Given the description of an element on the screen output the (x, y) to click on. 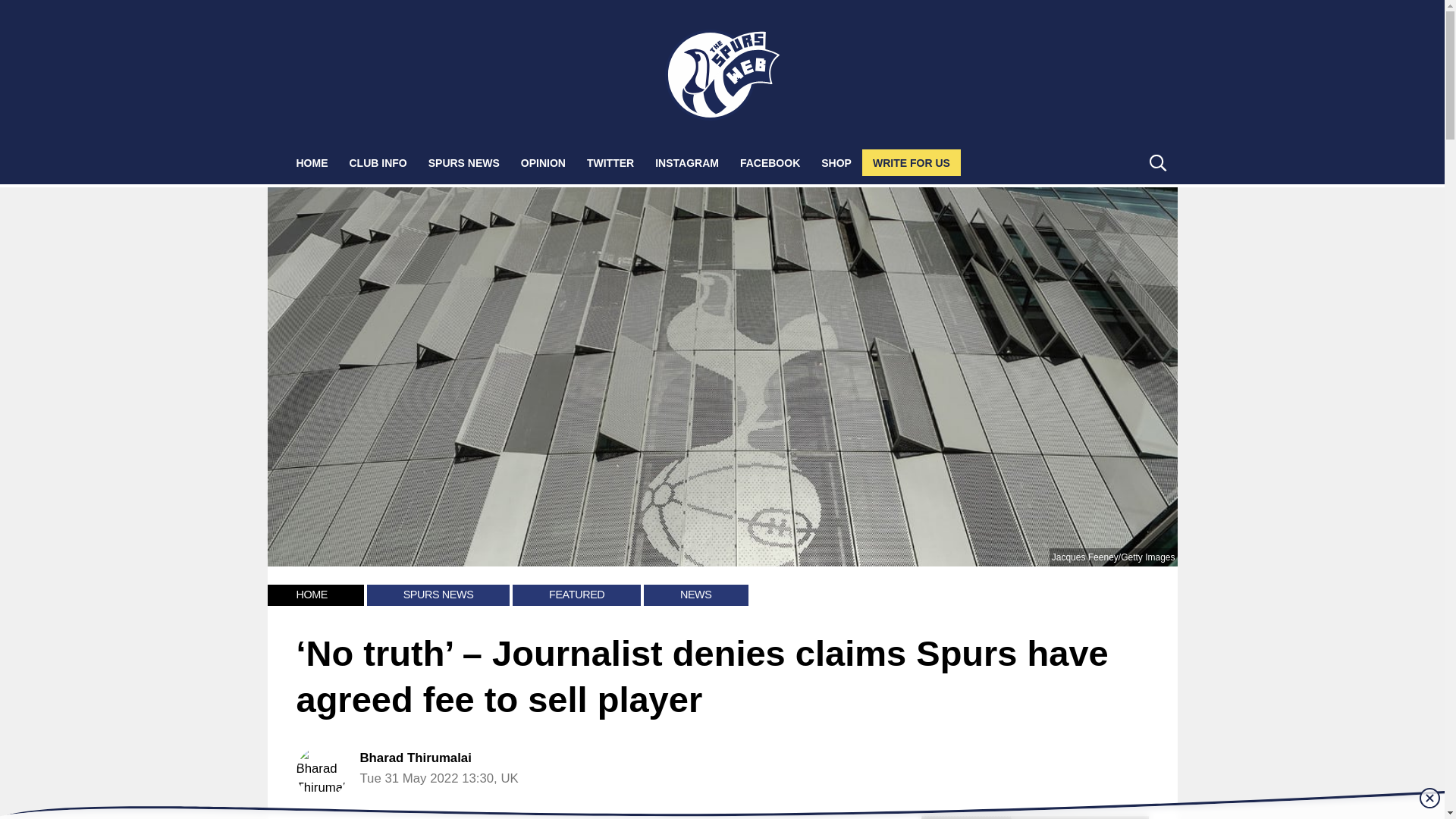
Click here for more Spurs news from NewsNow (1034, 817)
SPURS NEWS (438, 594)
Bharad Thirumalai (414, 758)
HOME (311, 594)
WRITE FOR US (910, 162)
TWITTER (610, 162)
FEATURED (576, 594)
SPURS NEWS (464, 162)
FACEBOOK (769, 162)
SHOP (835, 162)
INSTAGRAM (687, 162)
HOME (311, 162)
CLUB INFO (376, 162)
NEWS (695, 594)
The Spurs Web - Tottenham Hotspur Football News (722, 73)
